Given the description of an element on the screen output the (x, y) to click on. 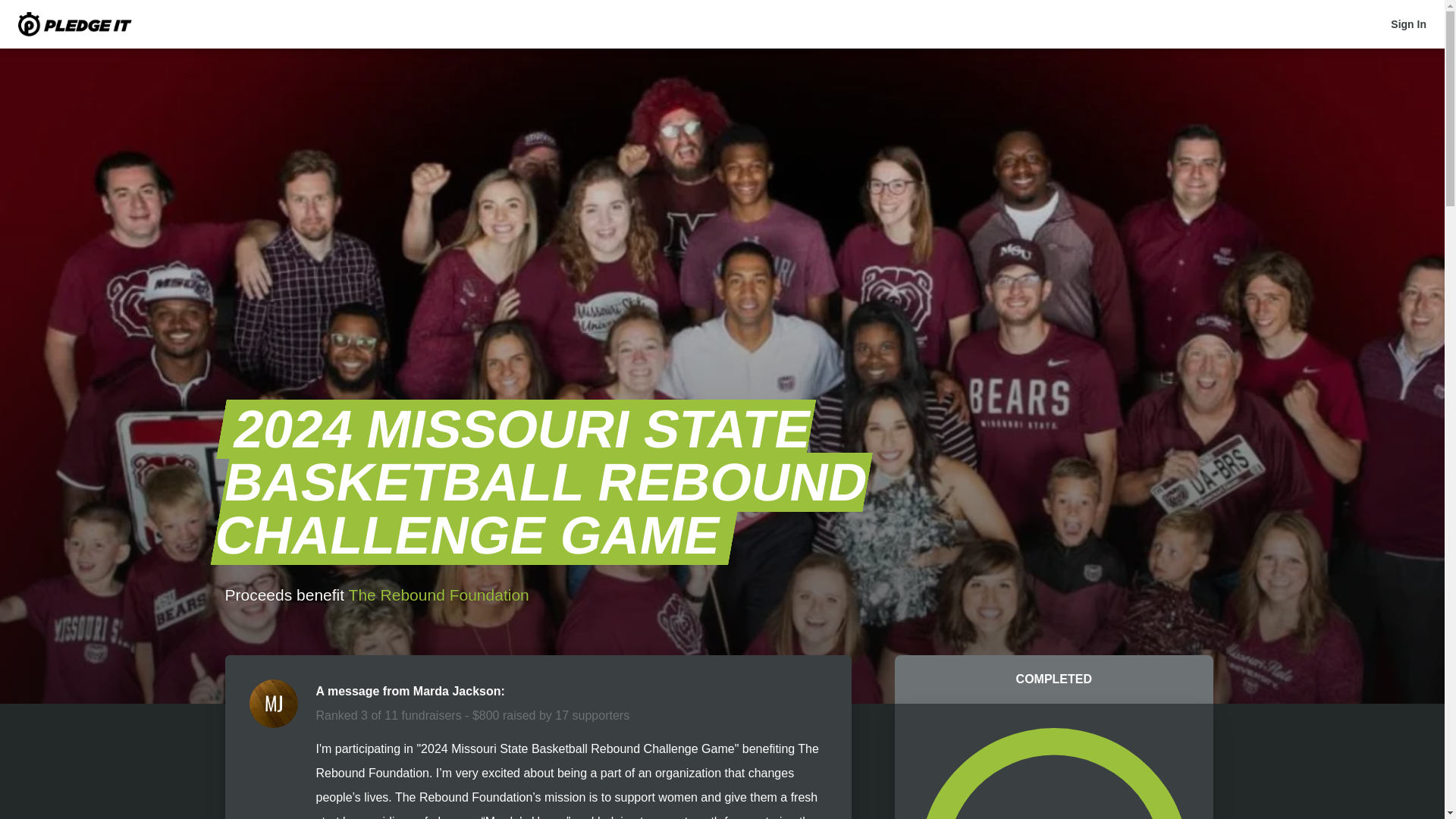
The Rebound Foundation (439, 594)
COMPLETED (1053, 679)
Sign In (1408, 24)
